Given the description of an element on the screen output the (x, y) to click on. 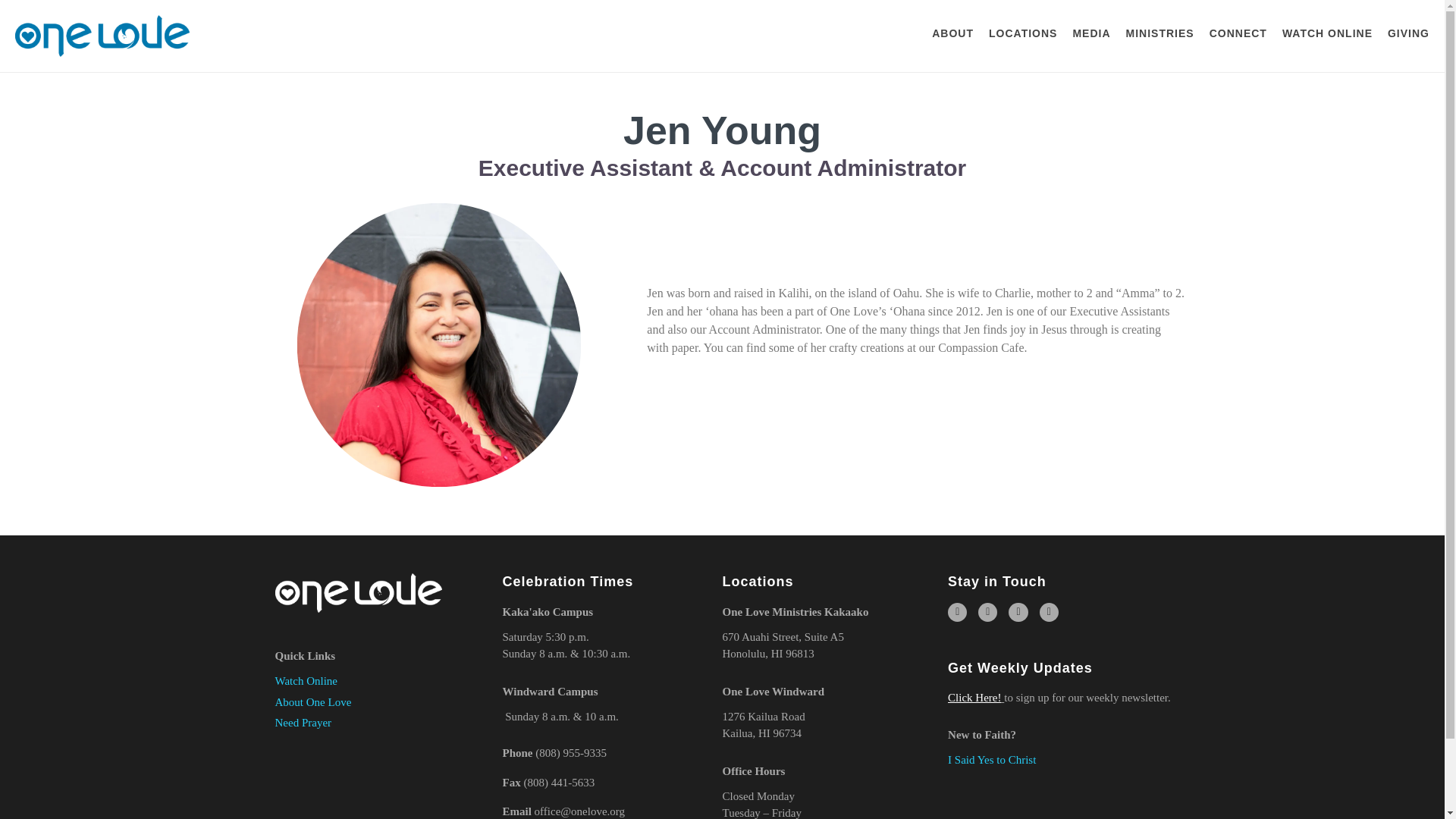
ABOUT (952, 36)
GIVING (1408, 36)
CONNECT (1237, 36)
LOCATIONS (1022, 36)
MEDIA (1090, 36)
WATCH ONLINE (1327, 36)
MINISTRIES (1159, 36)
